Given the description of an element on the screen output the (x, y) to click on. 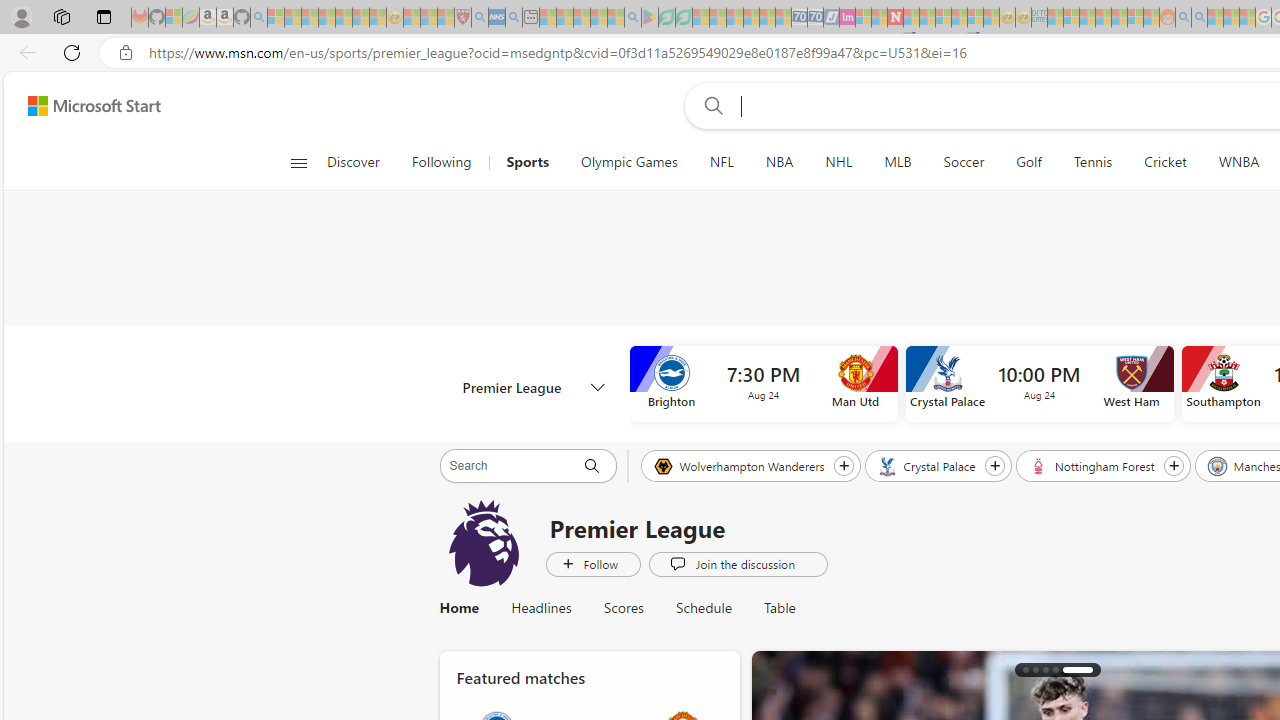
Brighton vs Man Utd Time 7:30 PM Date Aug 24 (763, 383)
NHL (838, 162)
Cricket (1165, 162)
Schedule (704, 607)
Scores (623, 607)
